Given the description of an element on the screen output the (x, y) to click on. 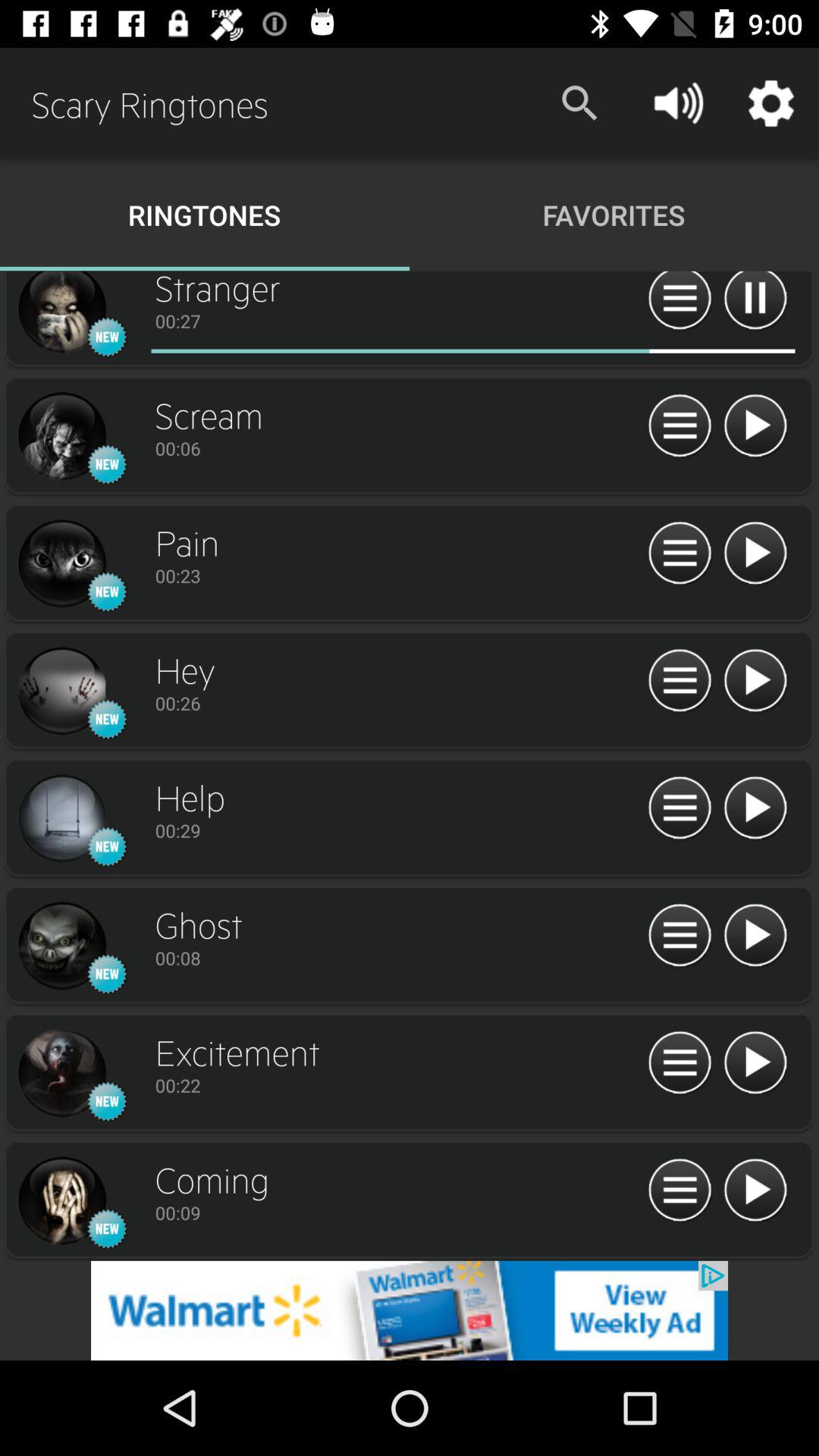
photo (61, 436)
